Given the description of an element on the screen output the (x, y) to click on. 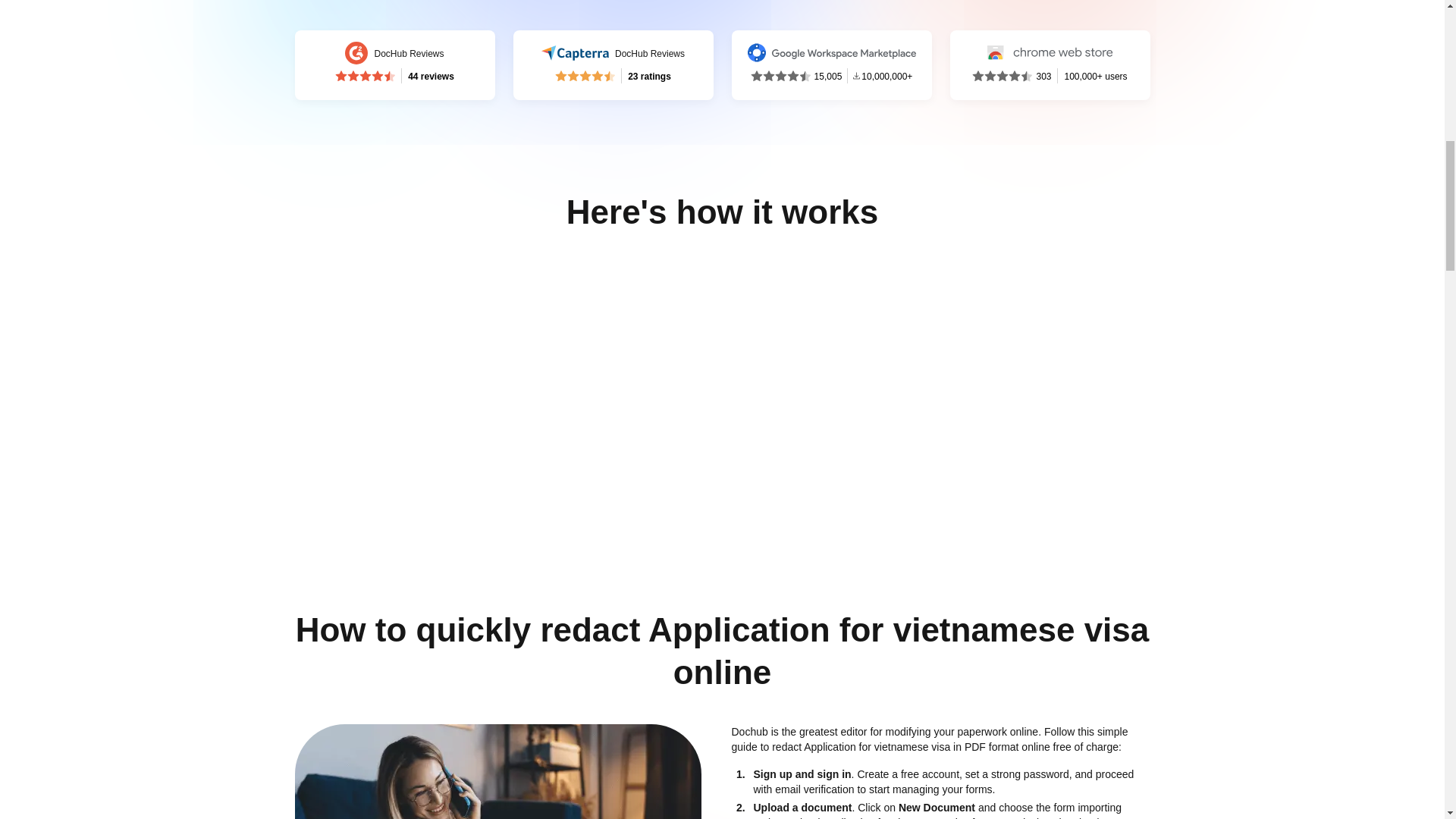
Start now (849, 35)
